Given the description of an element on the screen output the (x, y) to click on. 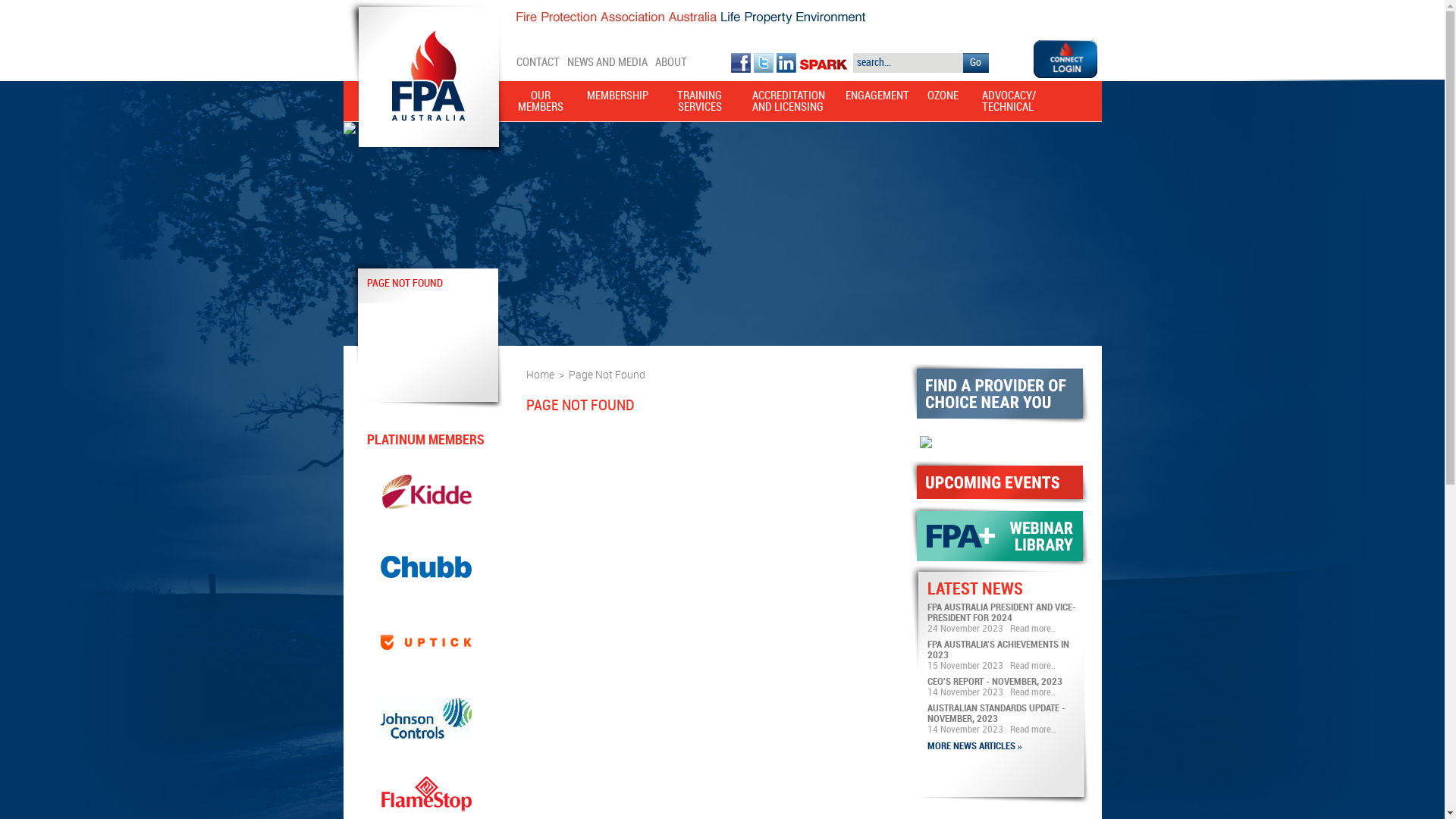
Read more.. Element type: text (1032, 628)
ABOUT Element type: text (671, 62)
TRAINING SERVICES Element type: text (699, 106)
FPA AUSTRALIA PRESIDENT AND VICE-PRESIDENT FOR 2024 Element type: text (1000, 612)
NEWS AND MEDIA Element type: text (607, 62)
AUSTRALIAN STANDARDS UPDATE - NOVEMBER, 2023 Element type: text (995, 713)
ENGAGEMENT Element type: text (862, 106)
CEO'S REPORT - NOVEMBER, 2023 Element type: text (993, 681)
Read more.. Element type: text (1032, 665)
Read more.. Element type: text (1032, 729)
Go Element type: text (975, 62)
Home Element type: text (540, 375)
PAGE NOT FOUND Element type: text (404, 282)
CONTACT Element type: text (536, 62)
OUR MEMBERS Element type: text (540, 106)
ACCREDITATION AND LICENSING Element type: text (788, 106)
FPA AUSTRALIA'S ACHIEVEMENTS IN 2023 Element type: text (997, 649)
MEMBERSHIP Element type: text (616, 106)
Read more.. Element type: text (1032, 692)
OZONE Element type: text (942, 106)
ADVOCACY/ TECHNICAL Element type: text (999, 106)
